Given the description of an element on the screen output the (x, y) to click on. 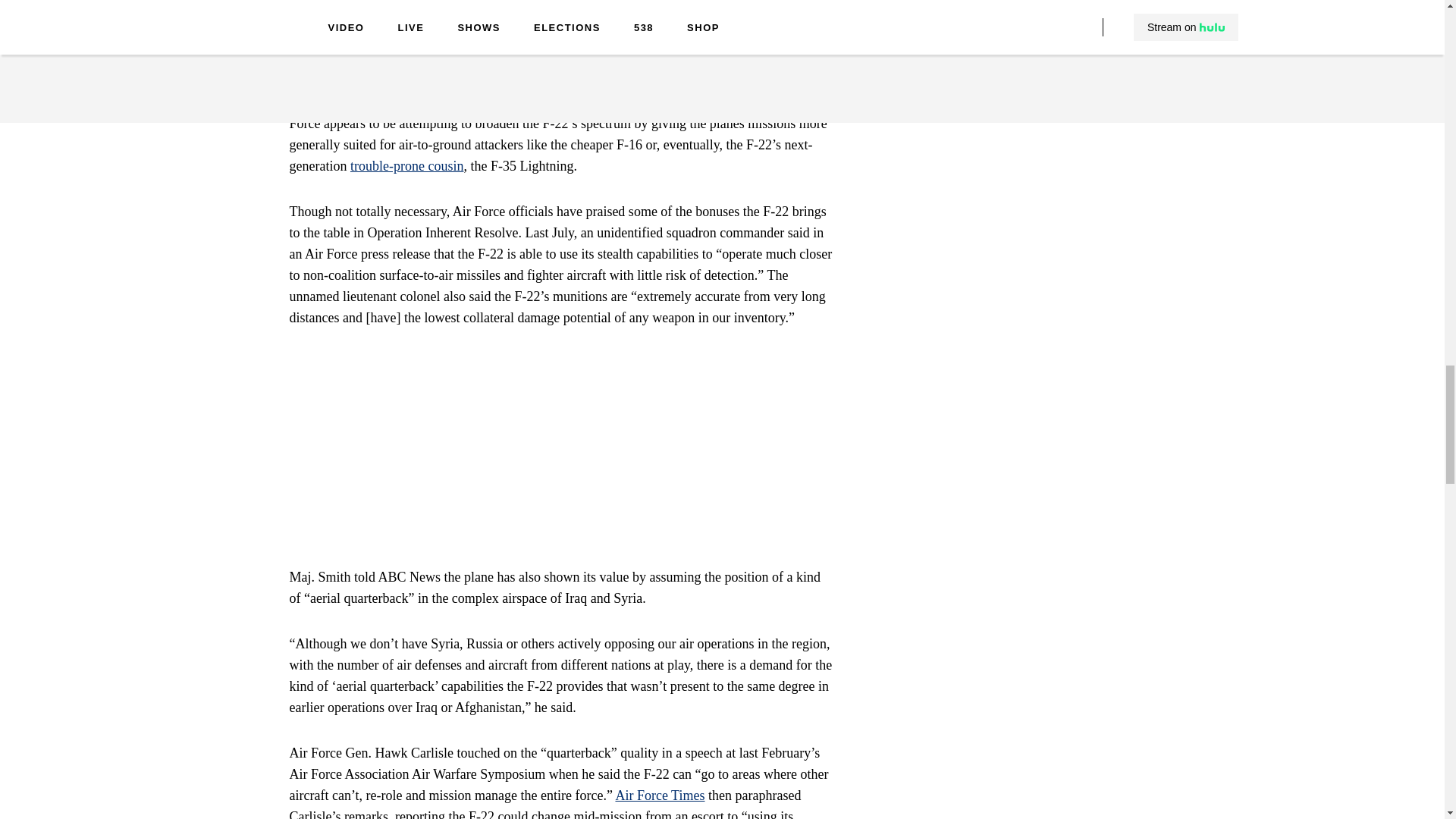
Air Force Times (659, 795)
trouble-prone cousin (406, 165)
